Given the description of an element on the screen output the (x, y) to click on. 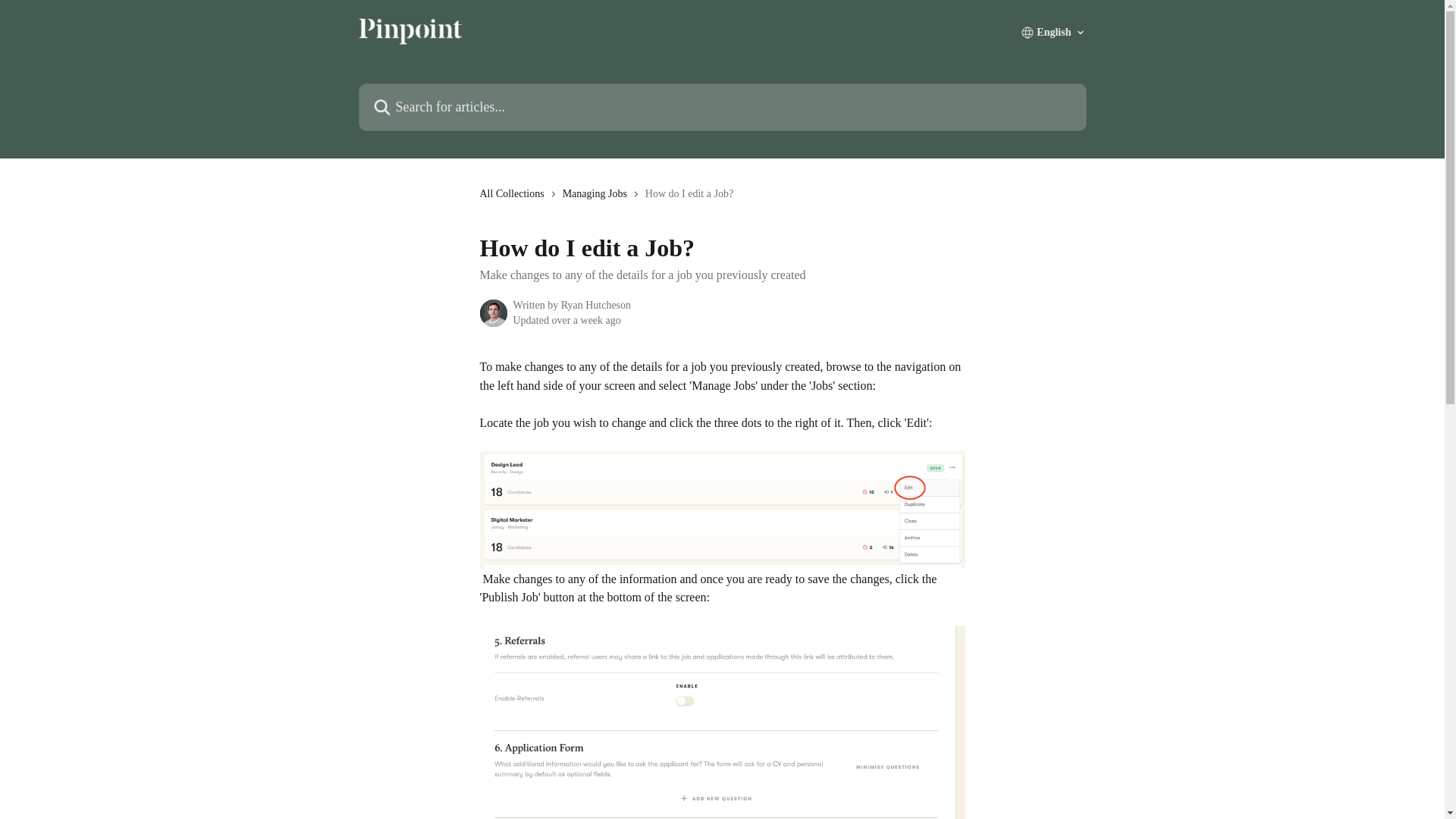
All Collections (514, 193)
Managing Jobs (597, 193)
